Given the description of an element on the screen output the (x, y) to click on. 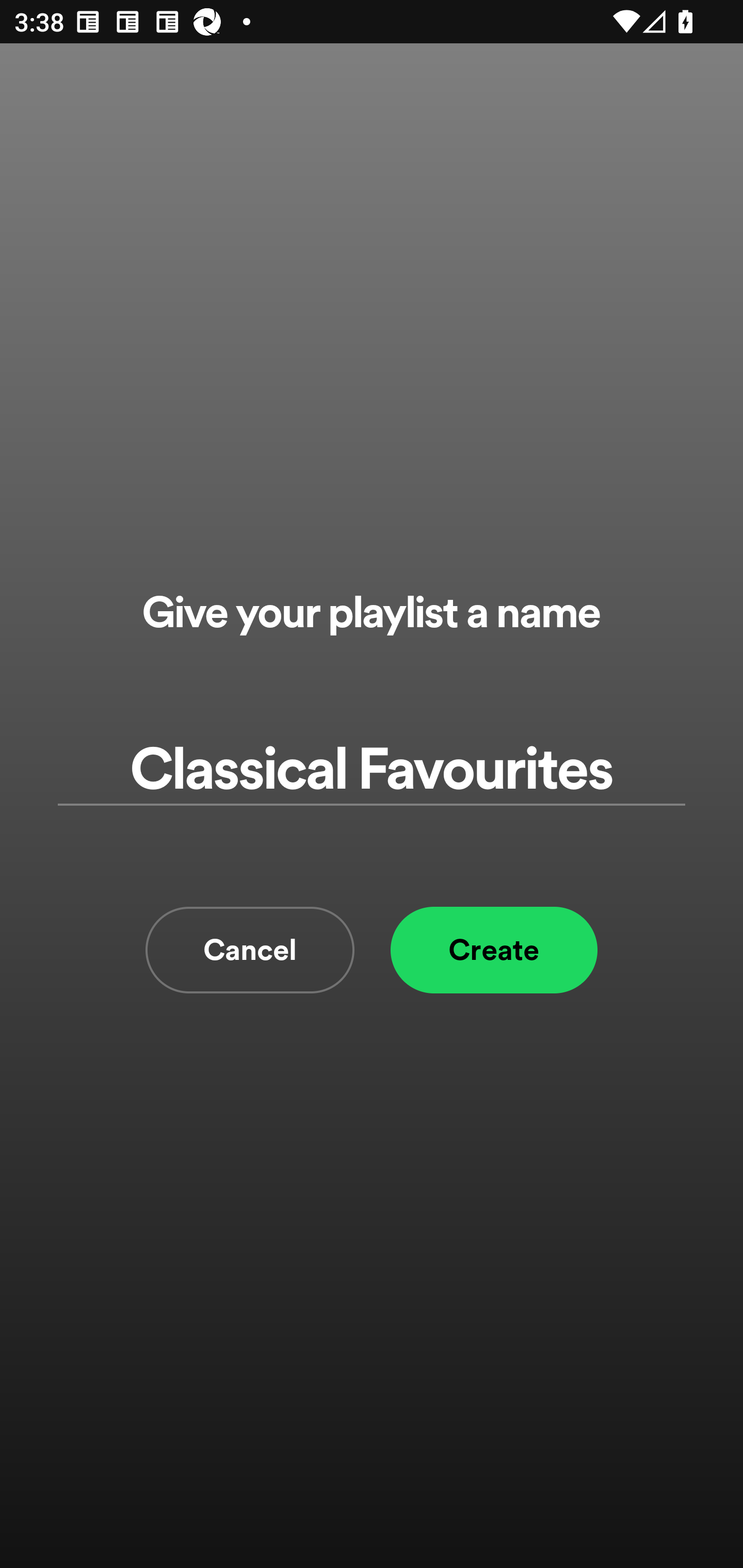
Classical Favourites Add a playlist name (371, 769)
Cancel (249, 950)
Create (493, 950)
